Given the description of an element on the screen output the (x, y) to click on. 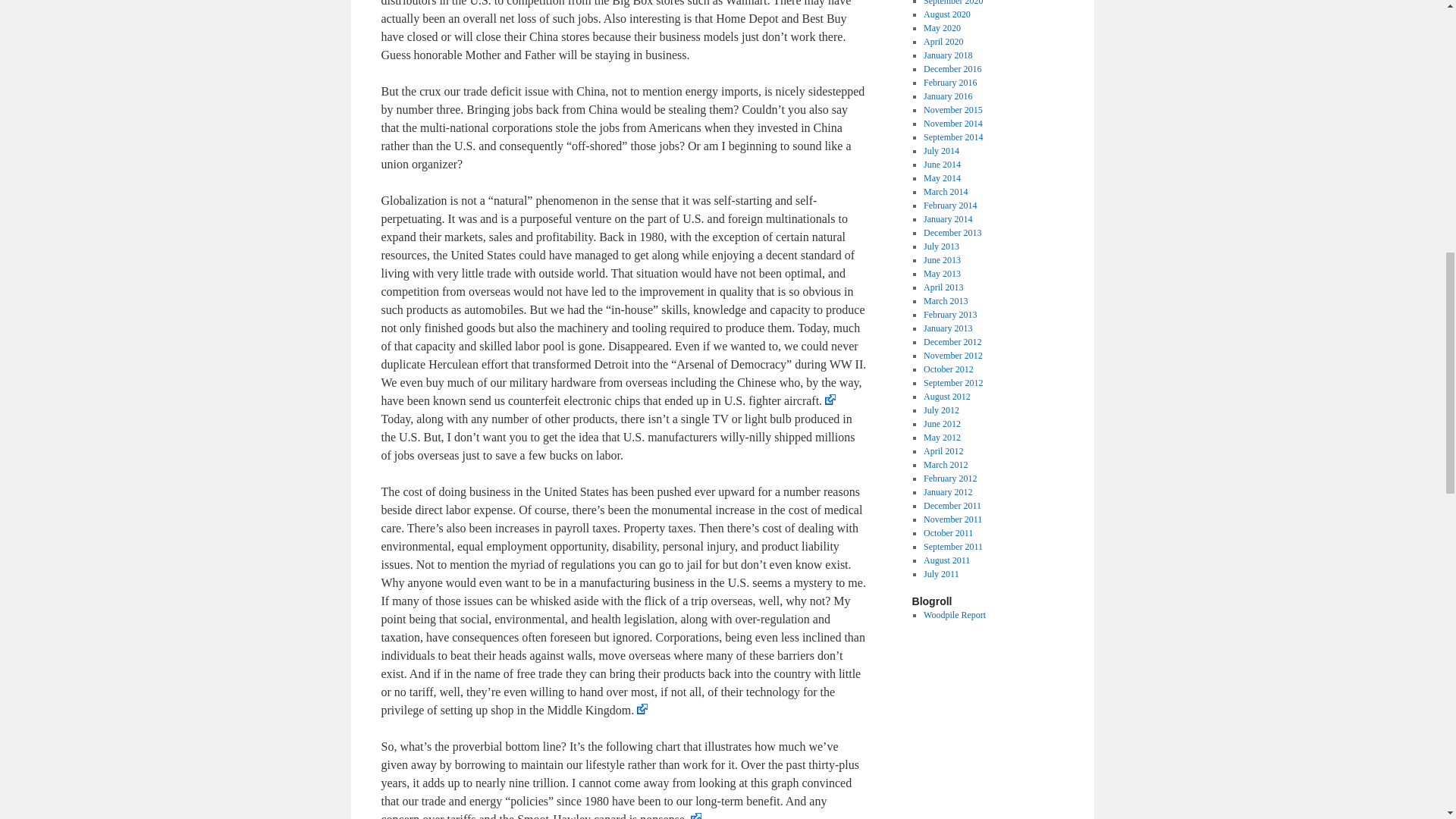
SourceLink (642, 708)
SourceLink (830, 398)
SourceLink (695, 816)
